Given the description of an element on the screen output the (x, y) to click on. 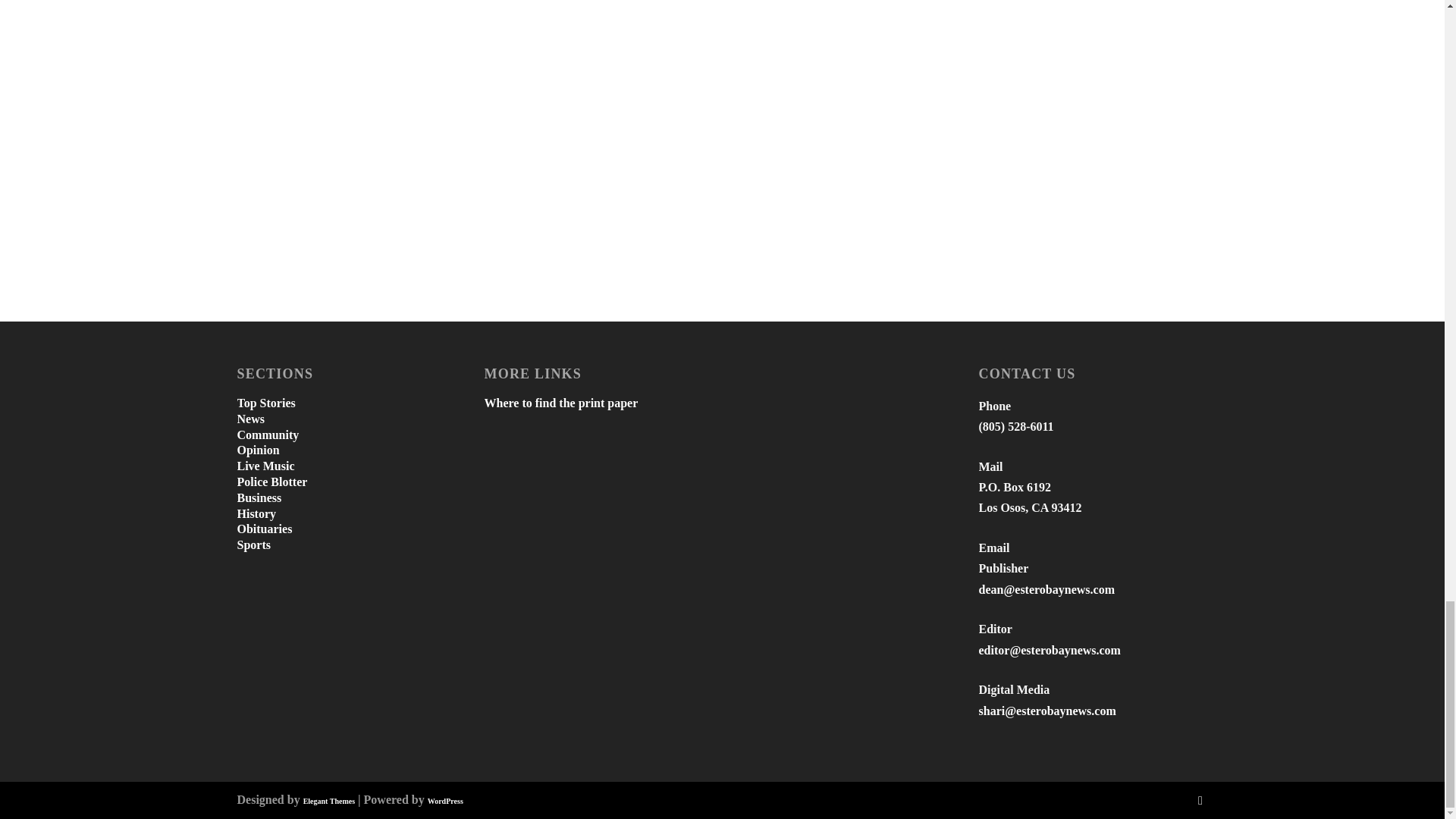
Premium WordPress Themes (328, 800)
